Given the description of an element on the screen output the (x, y) to click on. 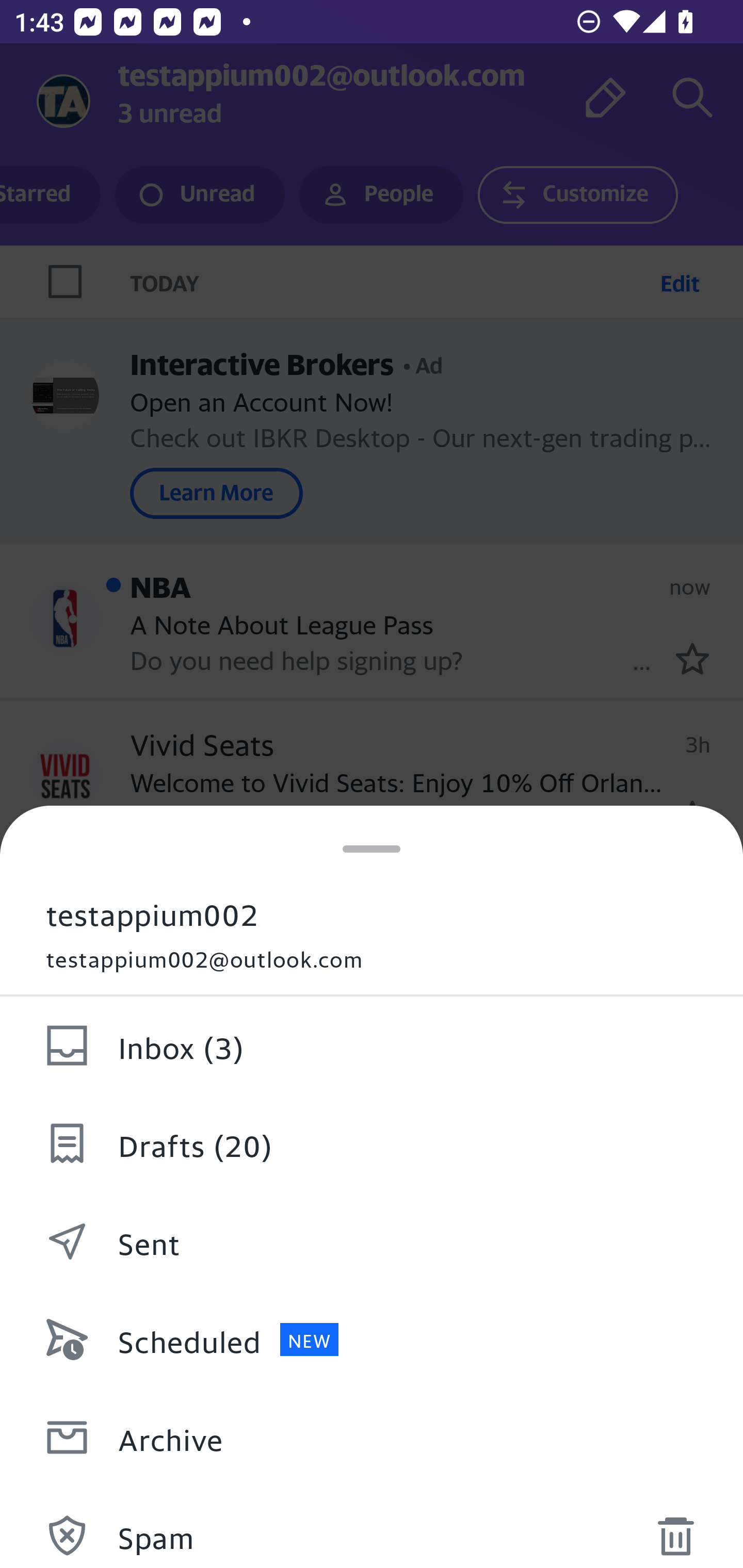
Inbox (3) (371, 1045)
Drafts (20) (371, 1143)
Sent (371, 1241)
Scheduled NEW (371, 1339)
Archive (371, 1437)
Spam Delete spam (371, 1527)
Delete spam (675, 1530)
